Given the description of an element on the screen output the (x, y) to click on. 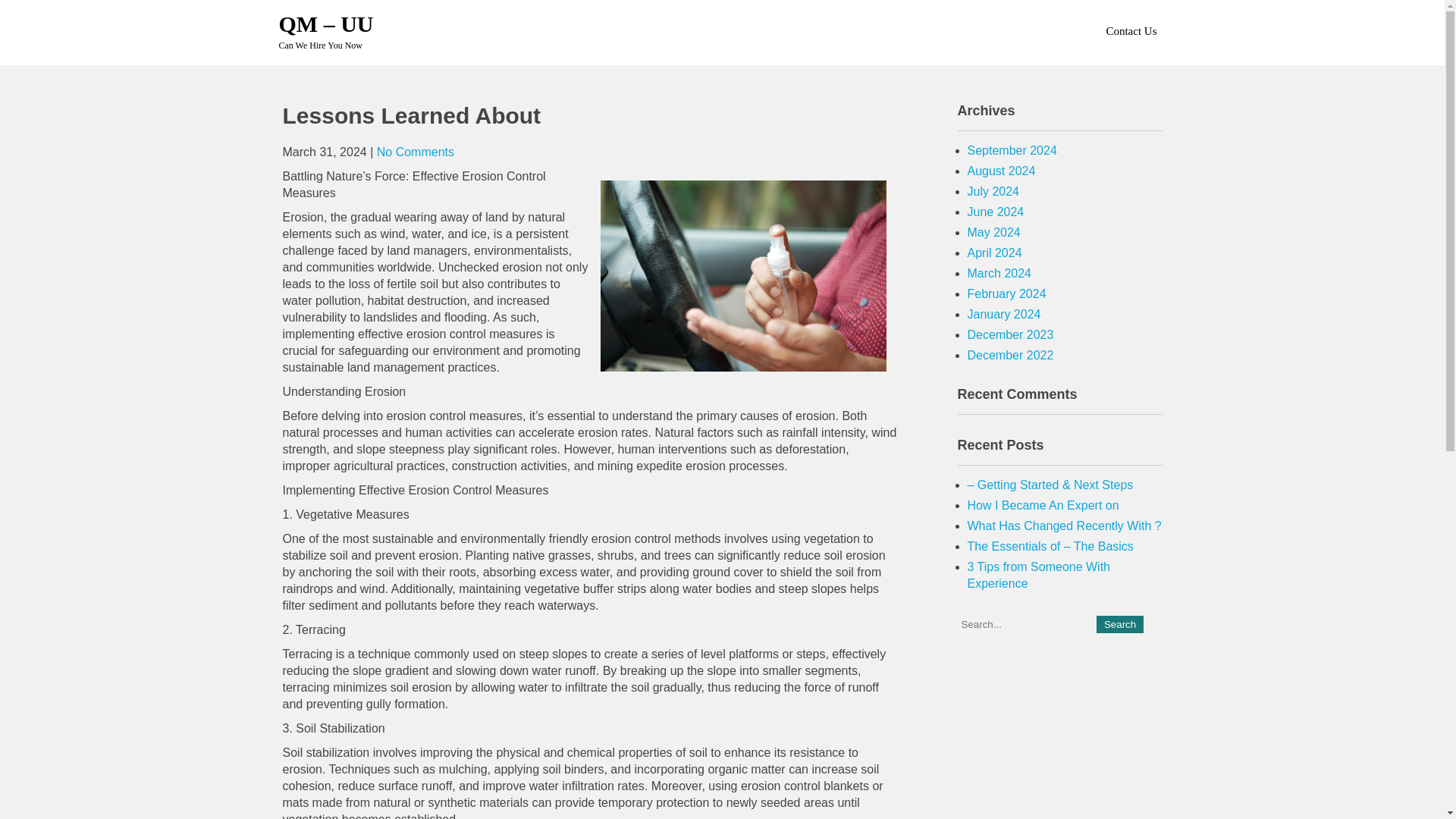
How I Became An Expert on (1043, 504)
3 Tips from Someone With Experience (1039, 574)
March 2024 (1000, 273)
No Comments (415, 151)
August 2024 (1001, 170)
September 2024 (1012, 150)
Search (1119, 624)
June 2024 (996, 211)
Contact Us (1130, 30)
May 2024 (994, 232)
